Given the description of an element on the screen output the (x, y) to click on. 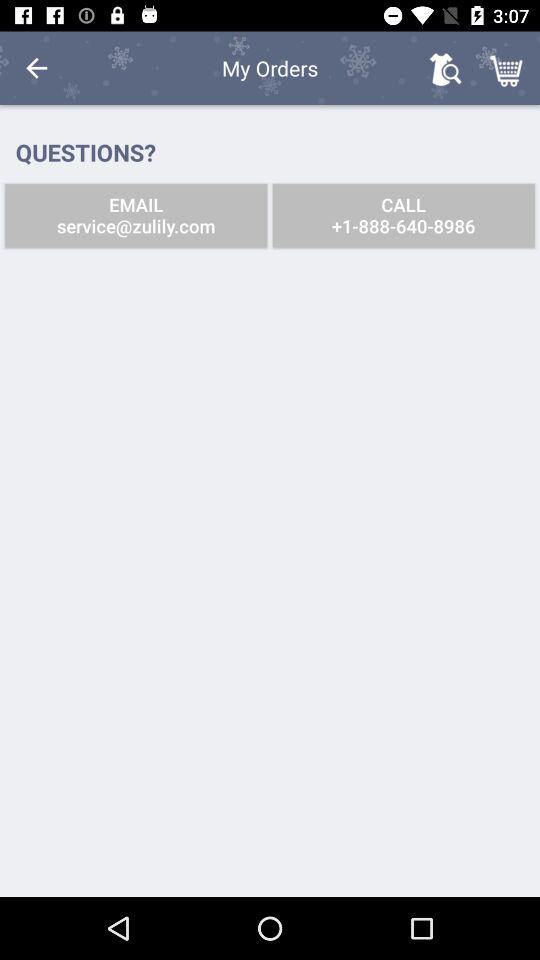
turn on item below the questions? icon (136, 215)
